Given the description of an element on the screen output the (x, y) to click on. 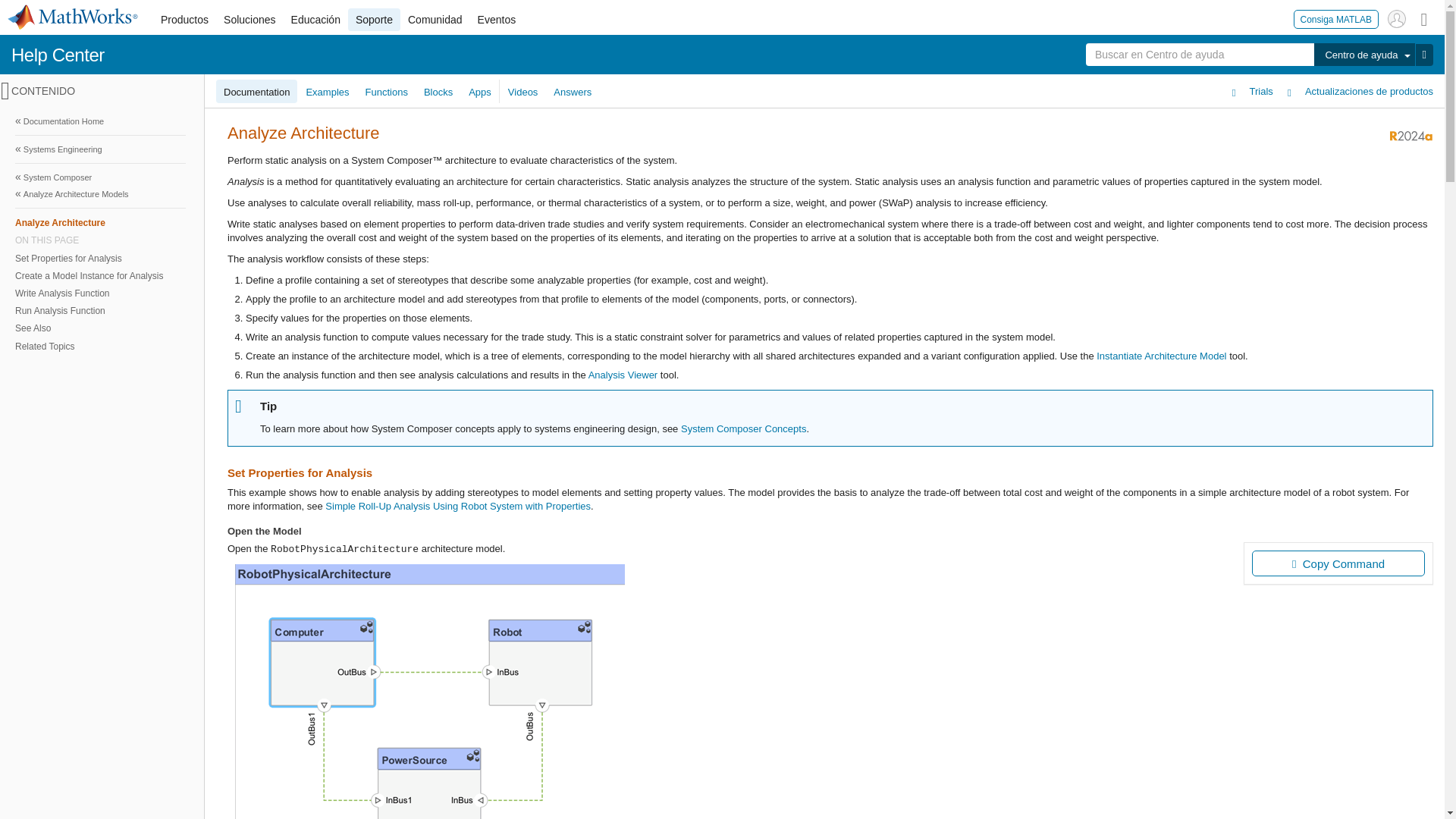
Consiga MATLAB (1336, 18)
Soporte (373, 19)
Analyze Architecture (100, 221)
Soluciones (249, 19)
ON THIS PAGE (100, 240)
Matrix Menu (1423, 18)
Comunidad (435, 19)
Eventos (497, 19)
Productos (183, 19)
